Given the description of an element on the screen output the (x, y) to click on. 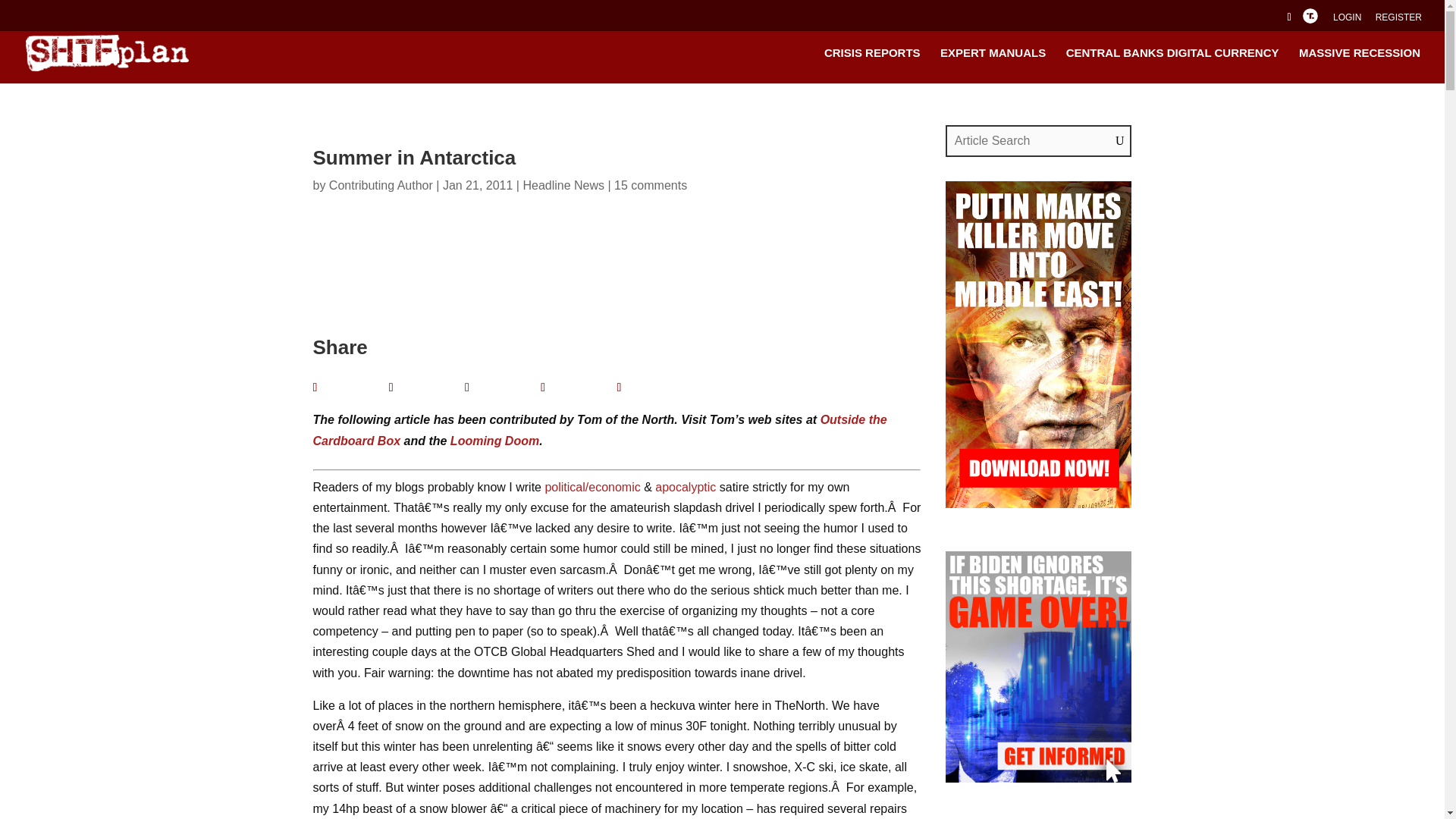
LOGIN (1347, 20)
EXPERT MANUALS (992, 65)
Outside the Cardboard Box (599, 429)
apocalyptic (685, 486)
CENTRAL BANKS DIGITAL CURRENCY (1172, 65)
LinkedIn (502, 386)
MASSIVE RECESSION (1359, 65)
Facebook (350, 386)
CRISIS REPORTS (872, 65)
REGISTER (1398, 20)
